Given the description of an element on the screen output the (x, y) to click on. 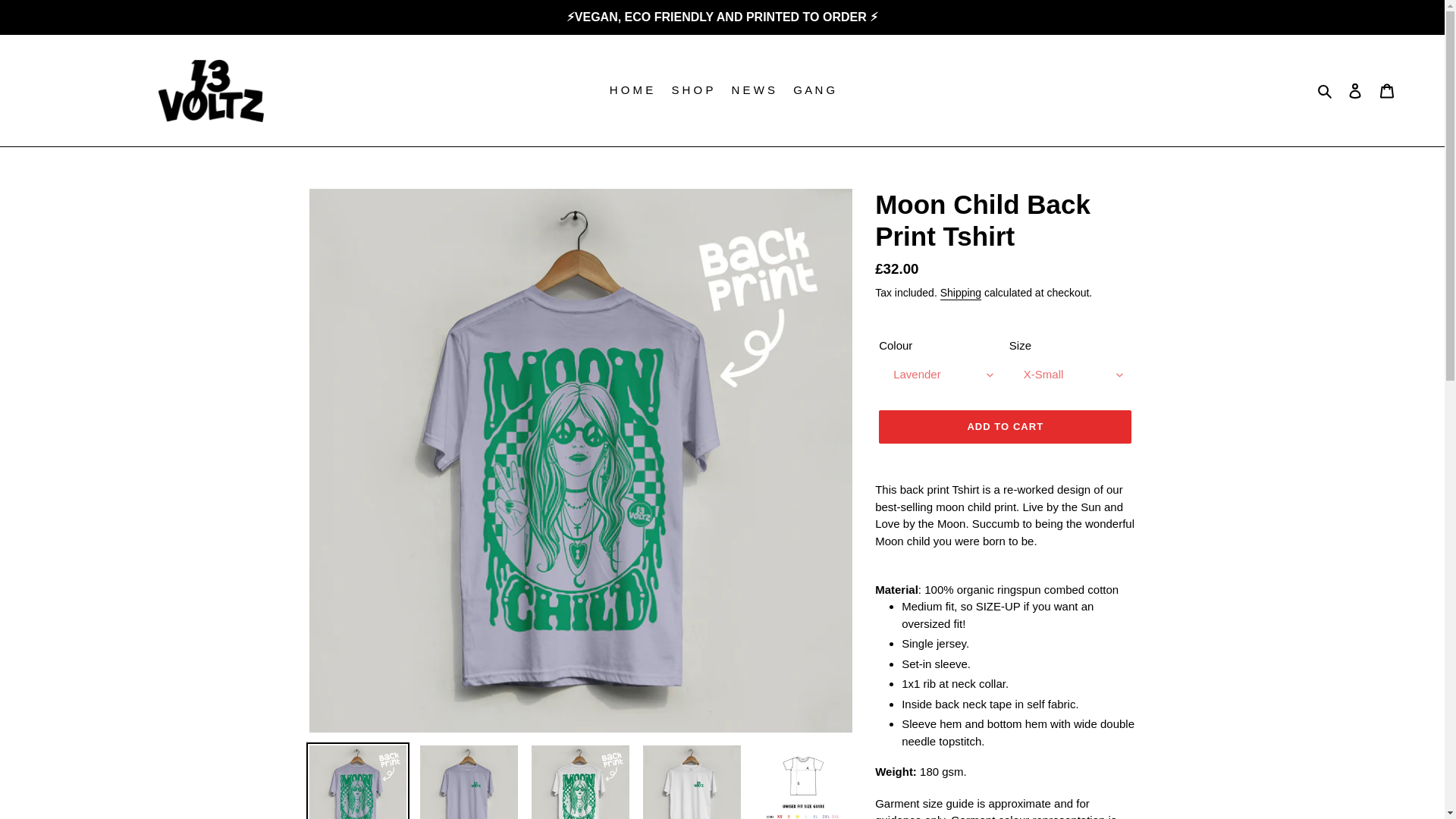
S H O P (691, 90)
Search (1326, 90)
Cart (1387, 90)
Log in (1355, 90)
N E W S (753, 90)
ADD TO CART (1005, 426)
G A N G (814, 90)
H O M E (631, 90)
Shipping (960, 293)
